Given the description of an element on the screen output the (x, y) to click on. 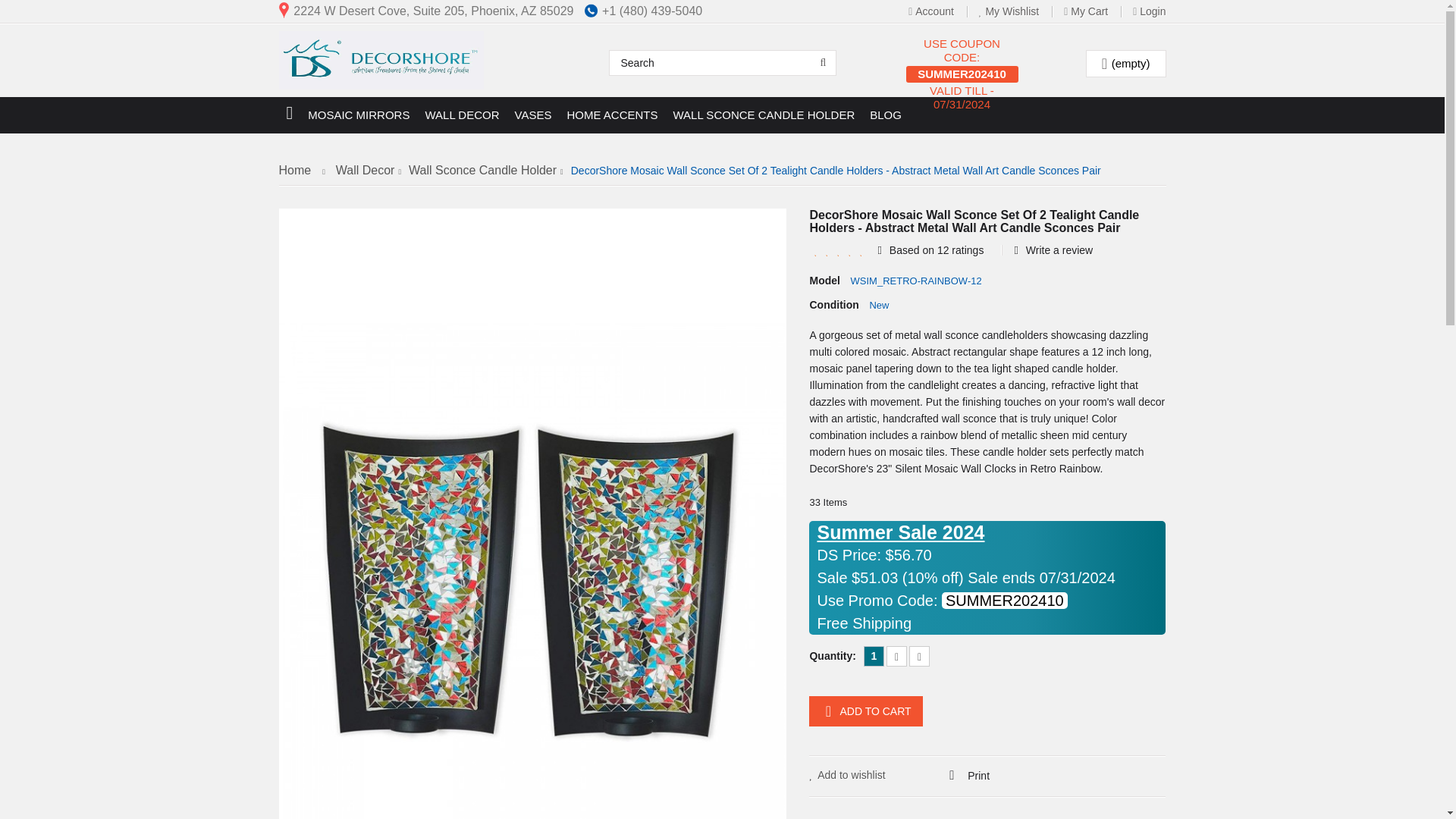
My wishlist (1018, 11)
Decorshore (381, 60)
Return to Home (306, 171)
Login (1153, 11)
1 (873, 656)
Search (721, 62)
HOME ACCENTS (612, 115)
BLOG (884, 115)
My Cart (1095, 11)
View my shopping cart (1126, 63)
Search (721, 62)
My Wishlist (1018, 11)
MOSAIC MIRRORS (357, 115)
VASES (532, 115)
My account (941, 11)
